Given the description of an element on the screen output the (x, y) to click on. 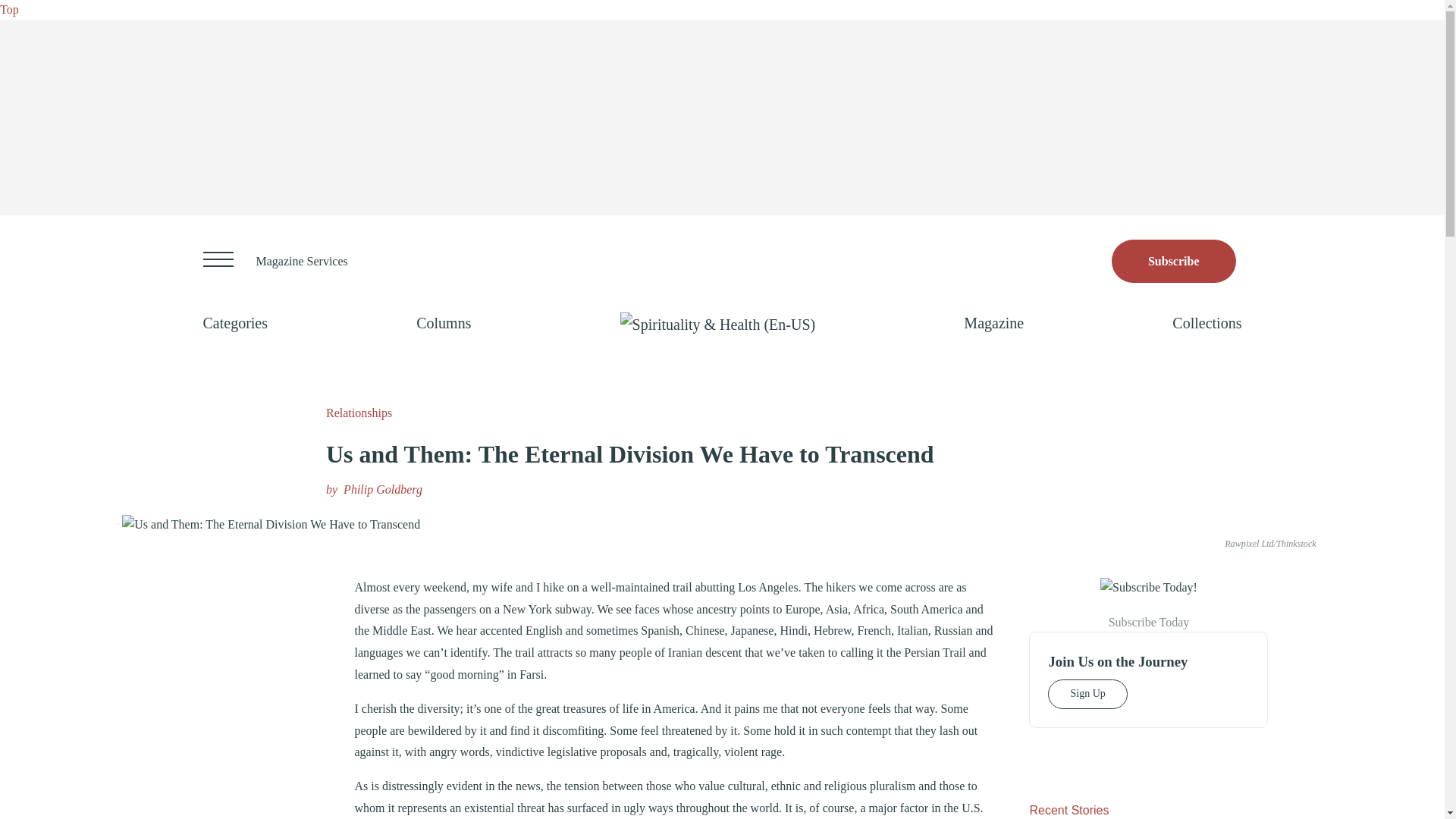
Opens to Store site (1174, 261)
Magazine (993, 322)
Top (9, 9)
Categories (235, 322)
Magazine Services (301, 260)
Columns (443, 322)
Collections (1206, 322)
Subscribe (1174, 261)
